Given the description of an element on the screen output the (x, y) to click on. 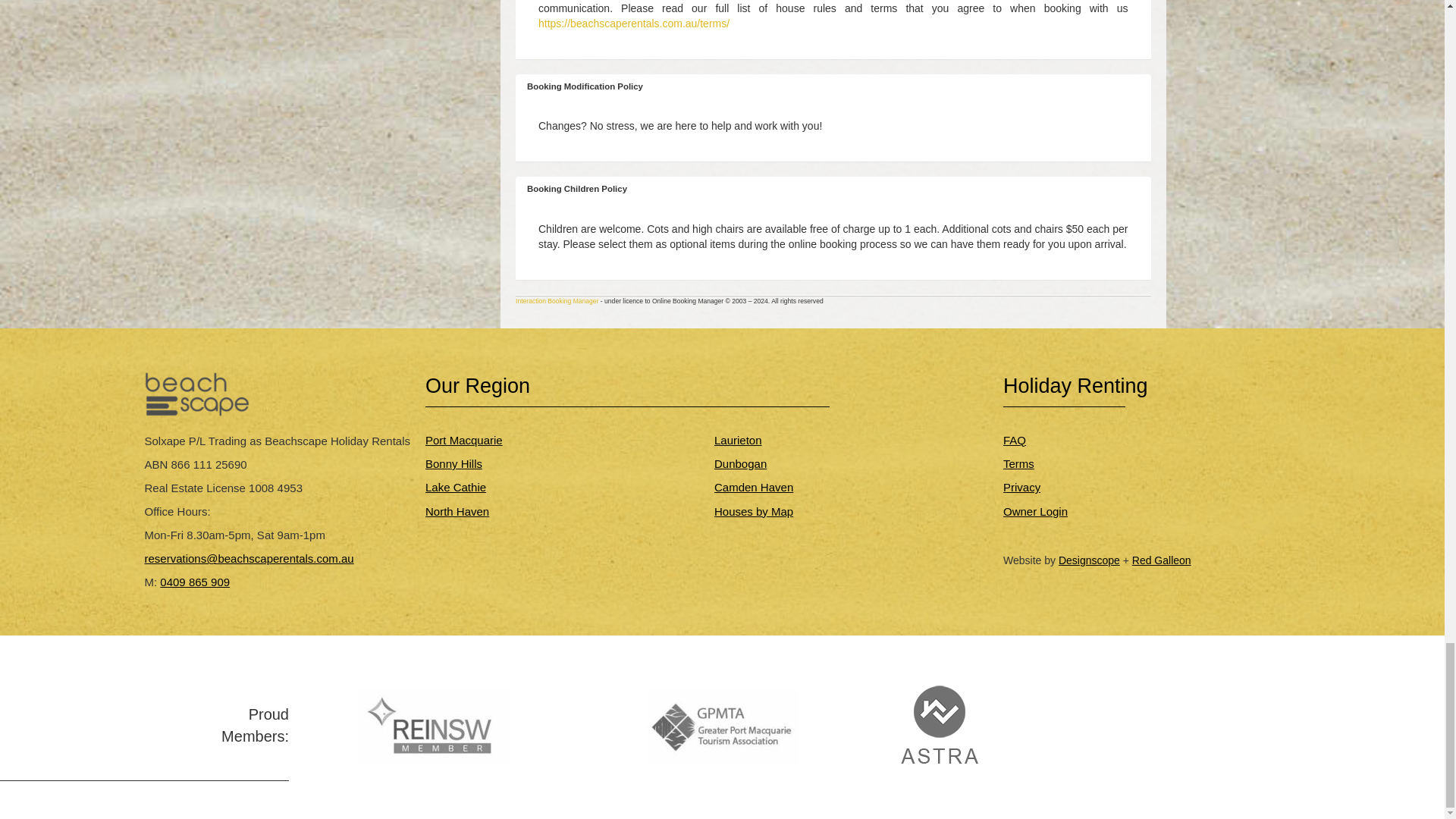
Camden Haven (753, 486)
North Haven (457, 511)
Port Macquarie (463, 440)
Dunbogan (740, 463)
Holiday Renting (1075, 385)
Bonny Hills (453, 463)
Laurieton (737, 440)
Our Region (477, 385)
Houses by Map (753, 511)
0409 865 909 (195, 581)
Interaction Booking Manager (556, 300)
Lake Cathie (455, 486)
